Given the description of an element on the screen output the (x, y) to click on. 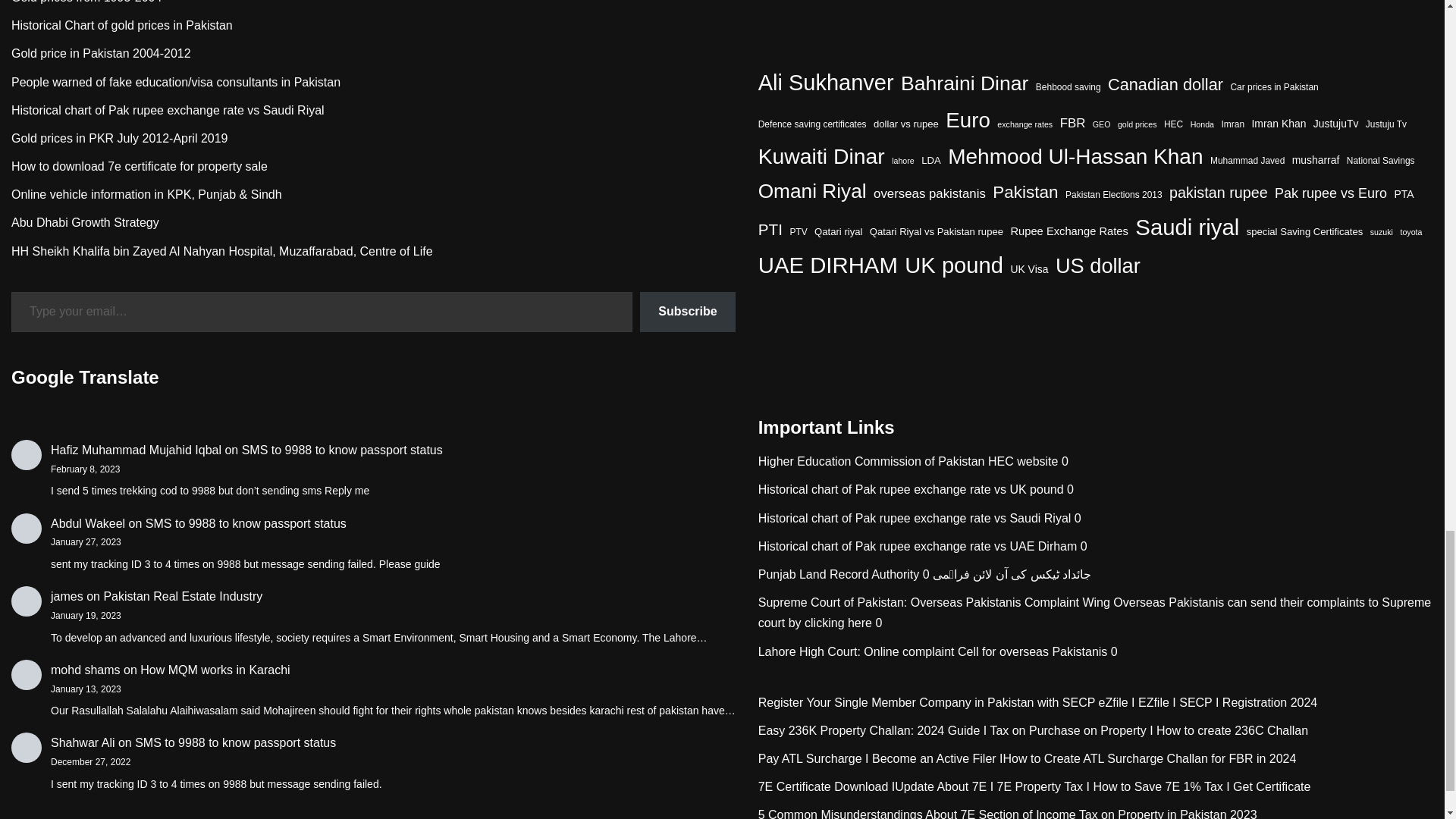
Please fill in this field. (321, 311)
HEC website (871, 461)
